Given the description of an element on the screen output the (x, y) to click on. 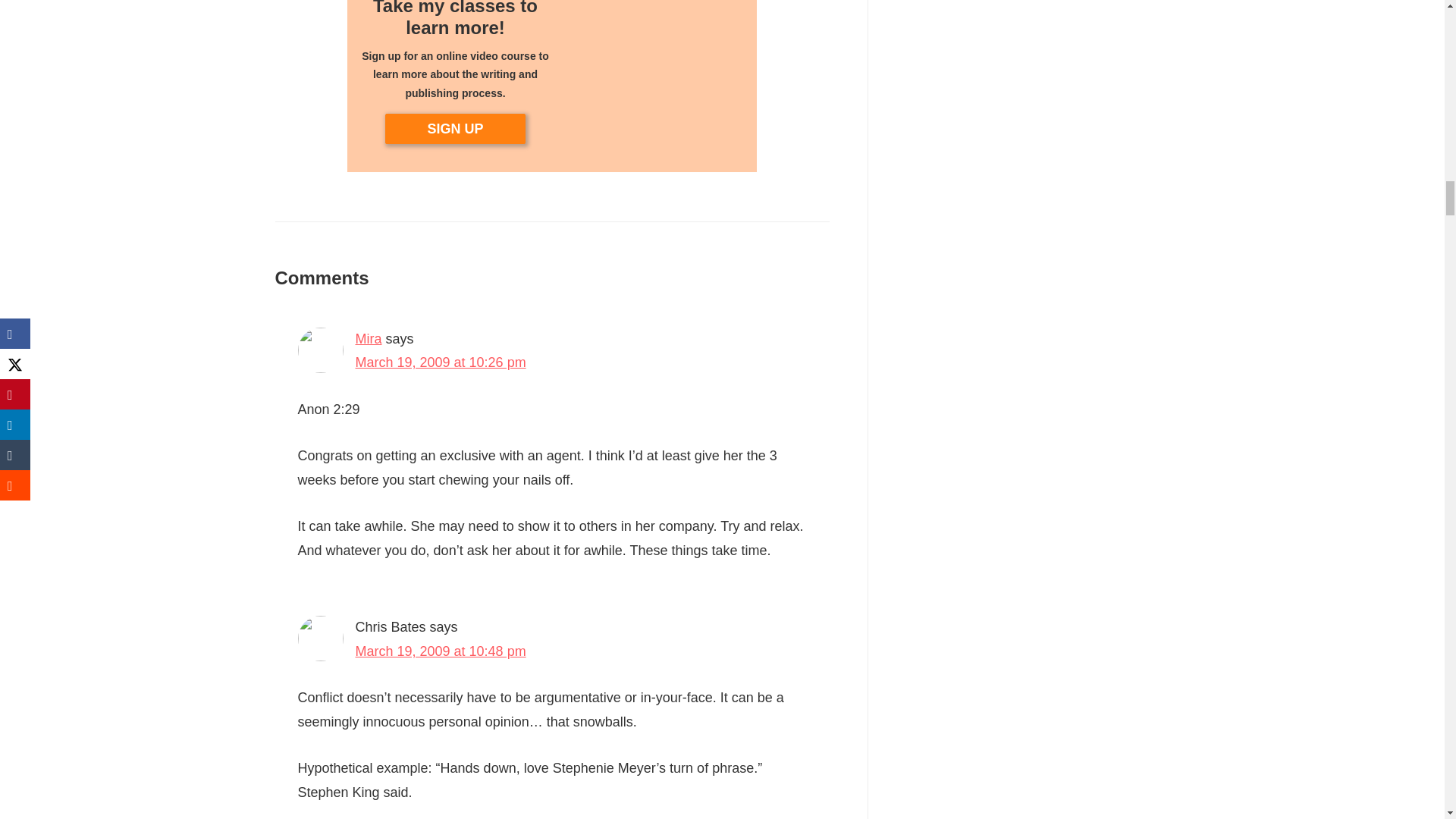
Mira (368, 338)
March 19, 2009 at 10:48 pm (440, 651)
March 19, 2009 at 10:26 pm (440, 362)
